Given the description of an element on the screen output the (x, y) to click on. 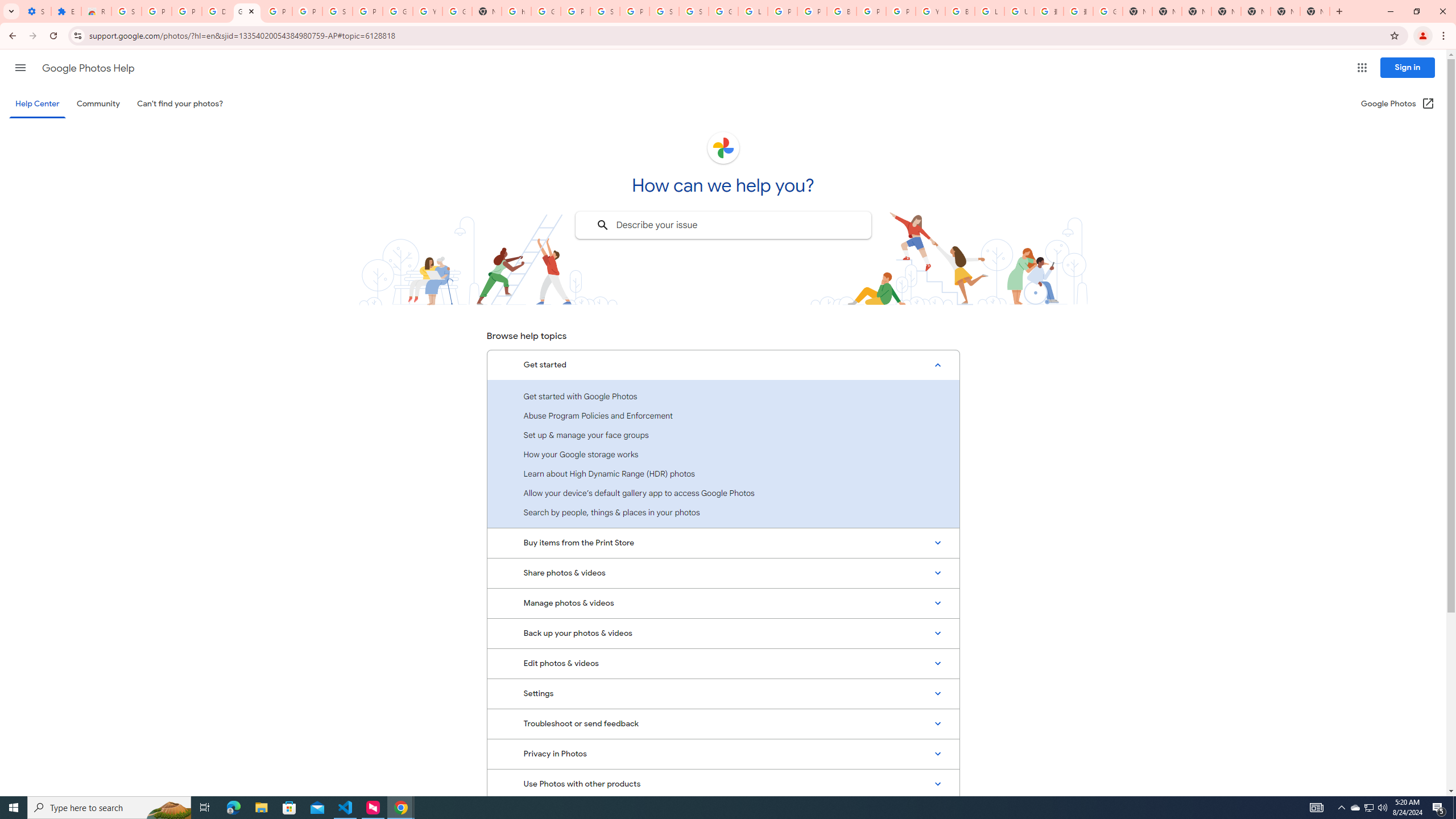
Privacy Help Center - Policies Help (782, 11)
Delete photos & videos - Computer - Google Photos Help (216, 11)
Set up & manage your face groups (722, 434)
